Given the description of an element on the screen output the (x, y) to click on. 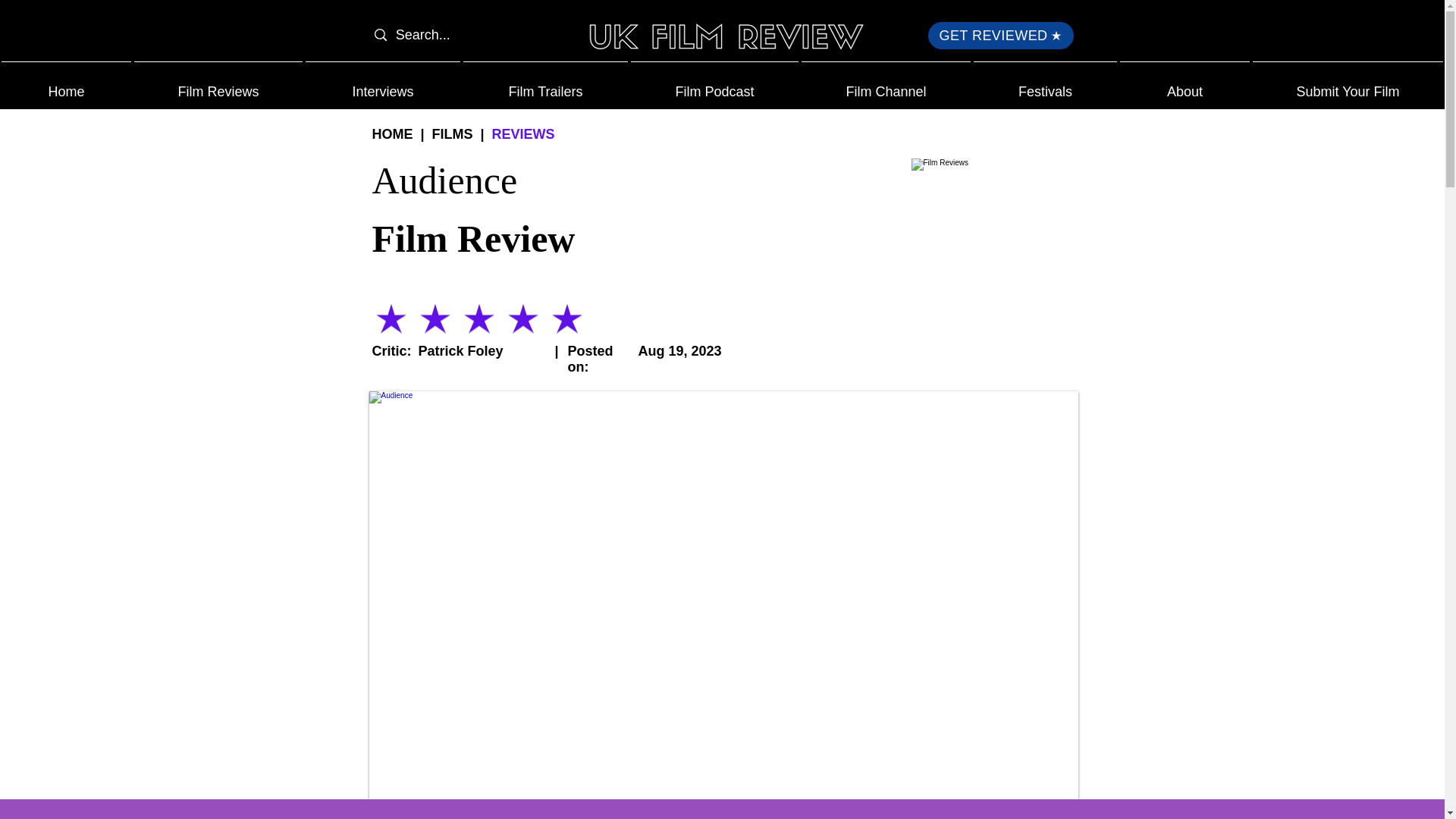
Film Reviews (991, 237)
Film Reviews (218, 84)
Home (66, 84)
GET REVIEWED (1001, 35)
Film Podcast (713, 84)
Festivals (1045, 84)
UK Film Review Logo (723, 40)
Interviews (382, 84)
Film Trailers (544, 84)
Film Channel (885, 84)
